Given the description of an element on the screen output the (x, y) to click on. 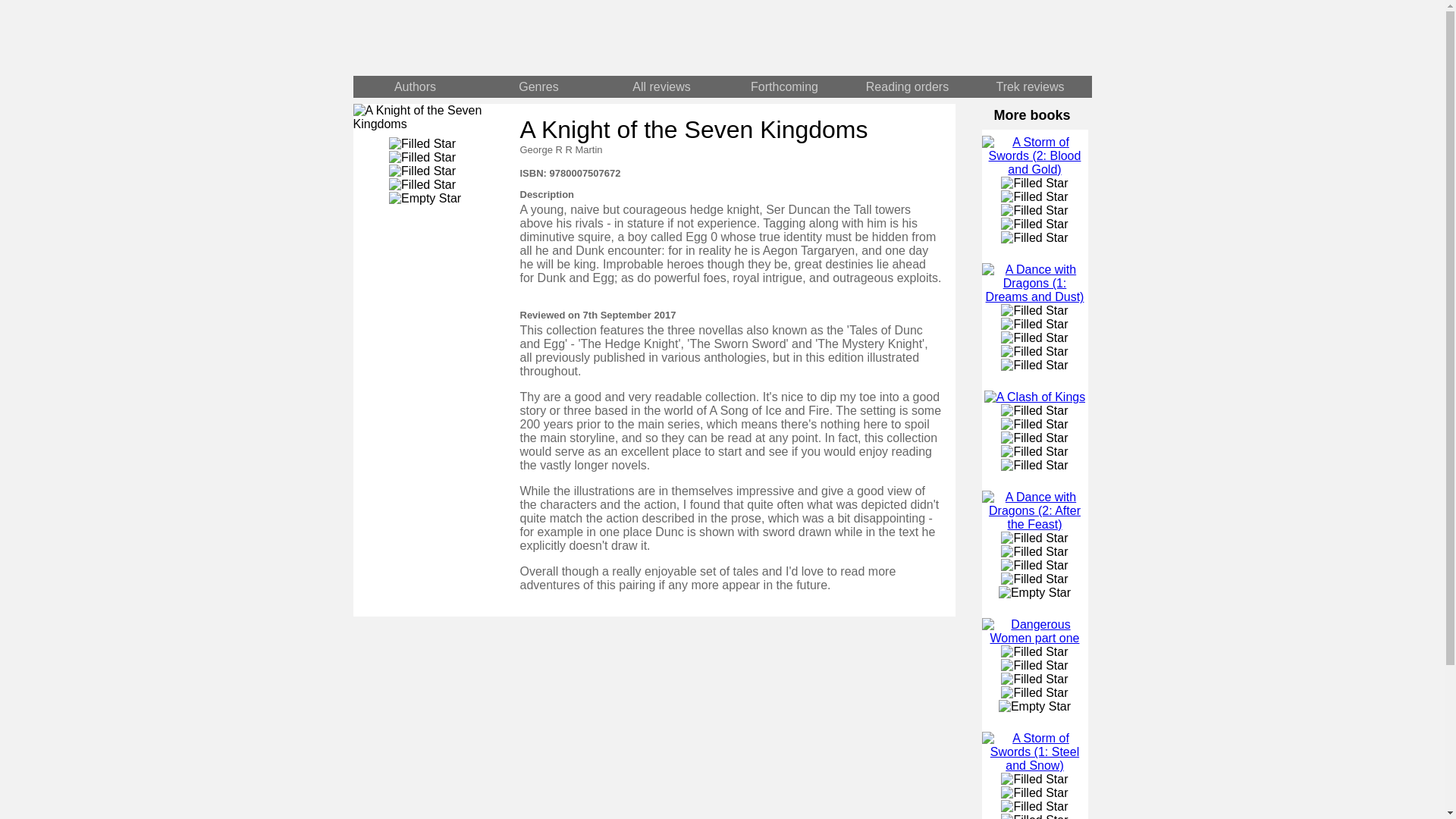
Reading orders (907, 86)
Home (537, 38)
Authors (415, 86)
Star Trek (906, 38)
Trek reviews (1030, 86)
Forthcoming (784, 86)
All reviews (661, 86)
Genres (538, 86)
